Given the description of an element on the screen output the (x, y) to click on. 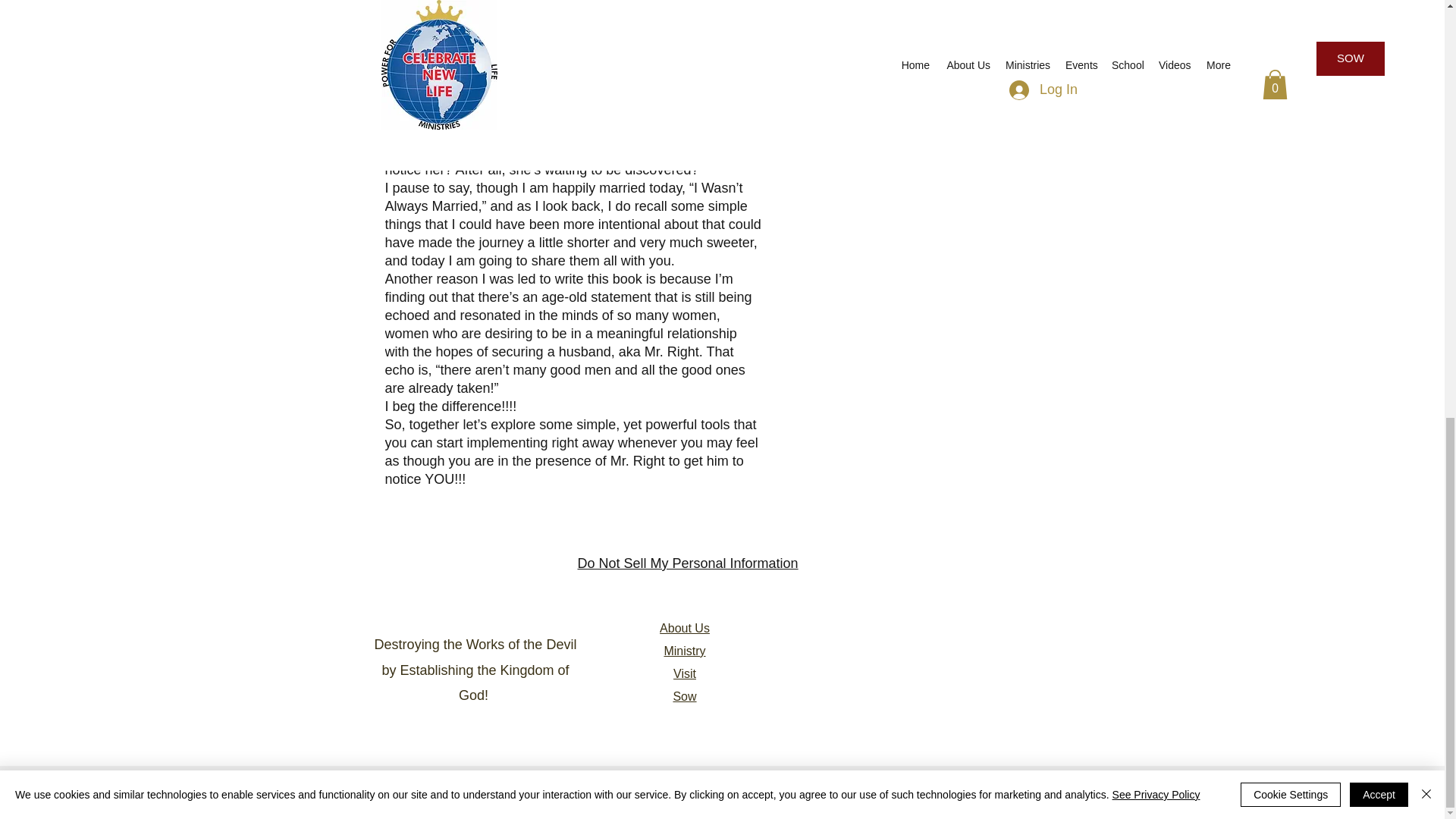
Google Maps (941, 658)
Ministry (683, 650)
About Us (684, 627)
Visit (683, 673)
Sow (683, 696)
Do Not Sell My Personal Information (687, 564)
